Given the description of an element on the screen output the (x, y) to click on. 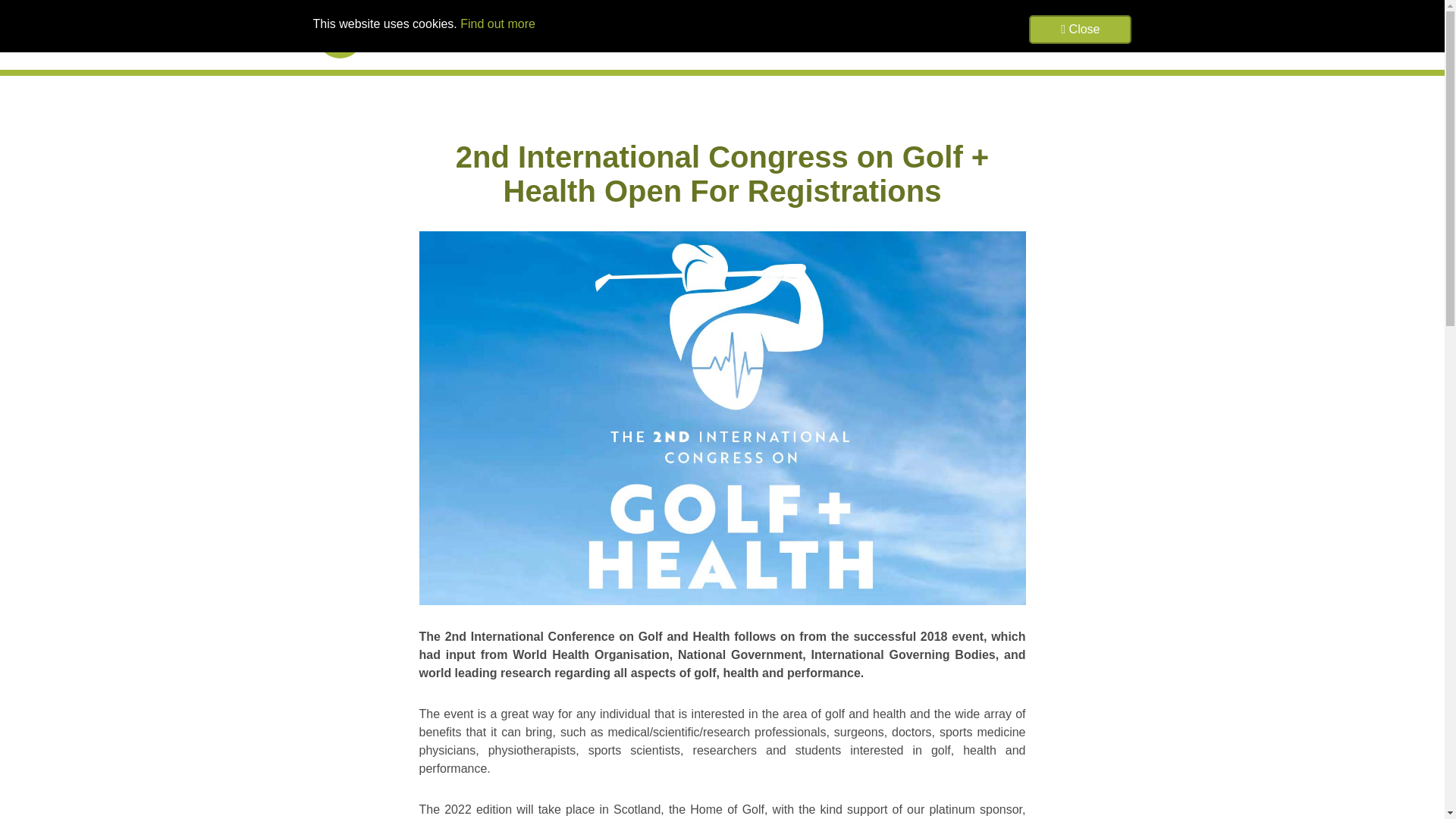
COVID-19 HUB (851, 34)
SPECTATING (1000, 34)
BENEFITS (928, 34)
ABOUT (781, 34)
Find out more (497, 23)
GET INVOLVED (1087, 34)
Close (1080, 29)
